Given the description of an element on the screen output the (x, y) to click on. 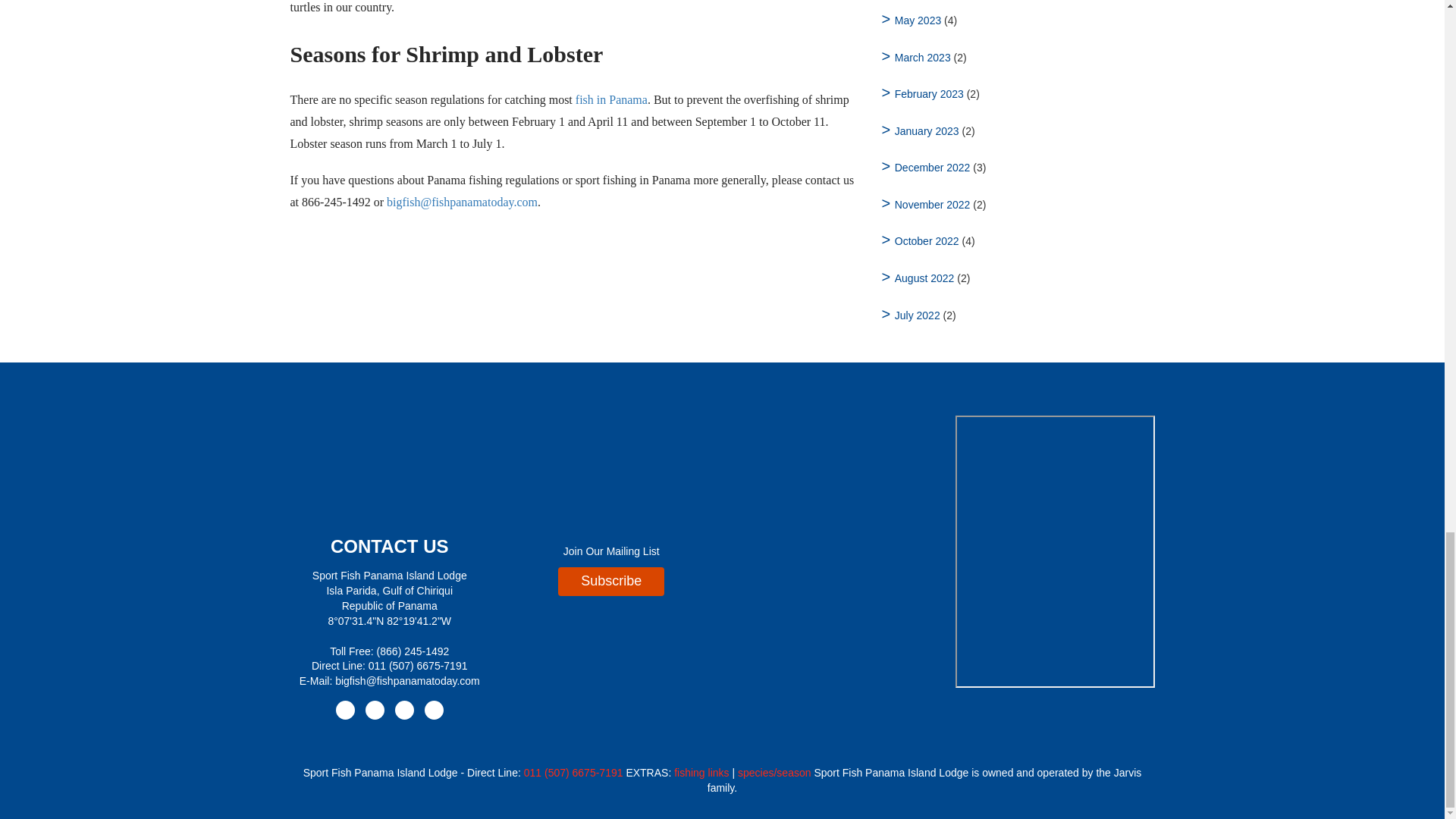
fish in Panama (611, 99)
Subscribe (610, 581)
